Given the description of an element on the screen output the (x, y) to click on. 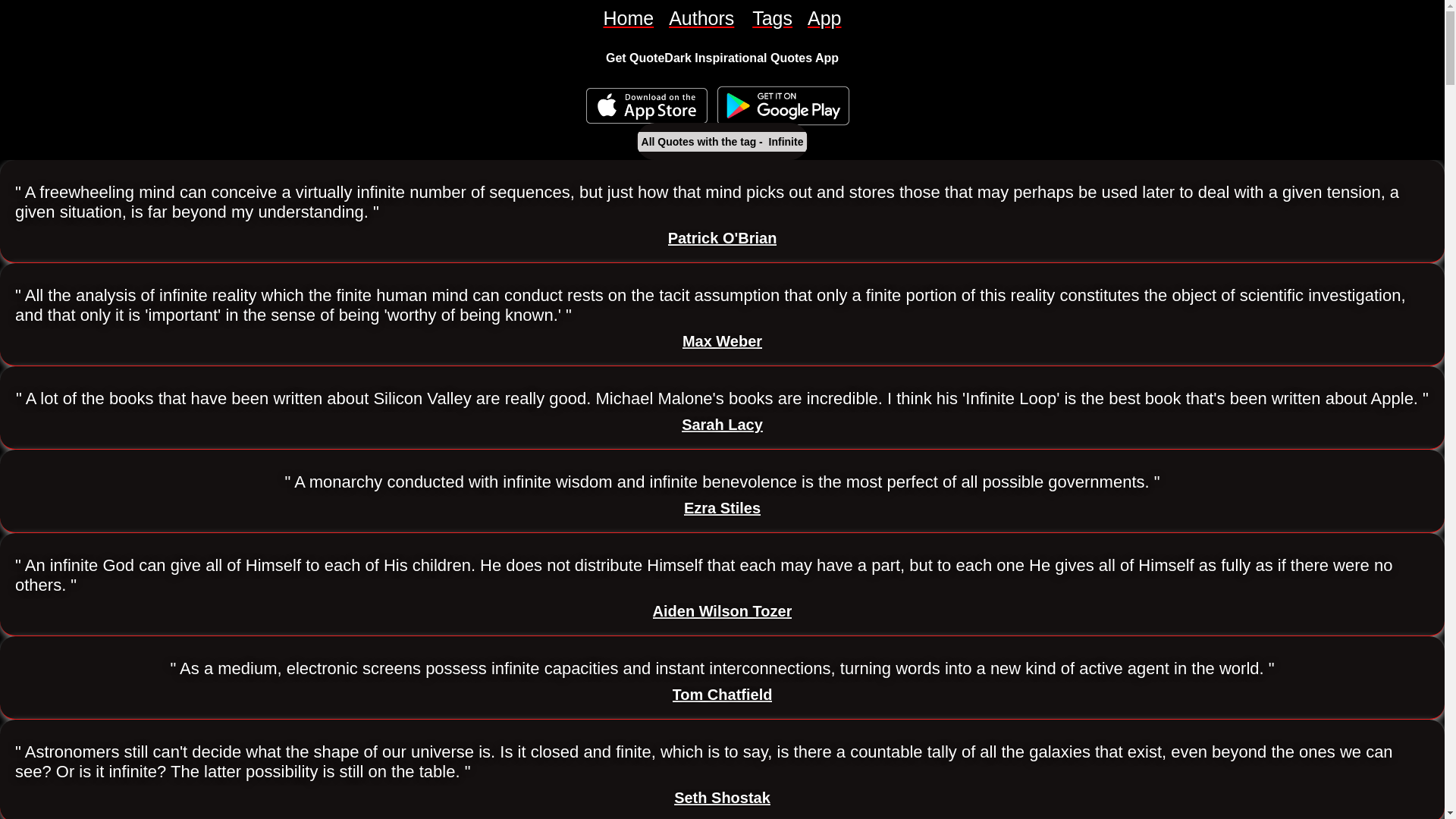
Max Weber (721, 341)
Tags (772, 18)
Home (627, 18)
Ezra Stiles (722, 507)
Tom Chatfield (722, 694)
Sarah Lacy (721, 425)
Patrick O'Brian (722, 238)
Seth Shostak (722, 797)
Aiden Wilson Tozer (722, 610)
